Given the description of an element on the screen output the (x, y) to click on. 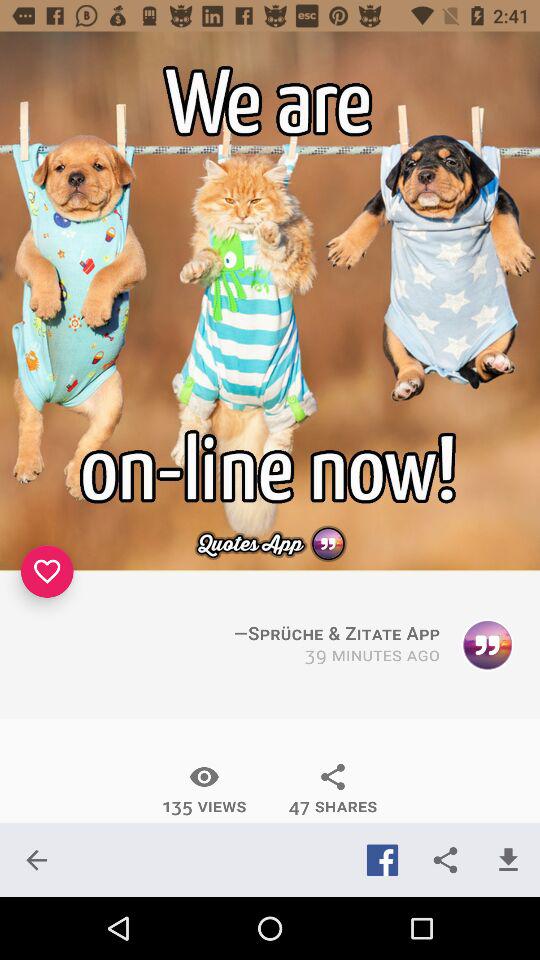
turn off the 39 minutes ago icon (372, 655)
